Given the description of an element on the screen output the (x, y) to click on. 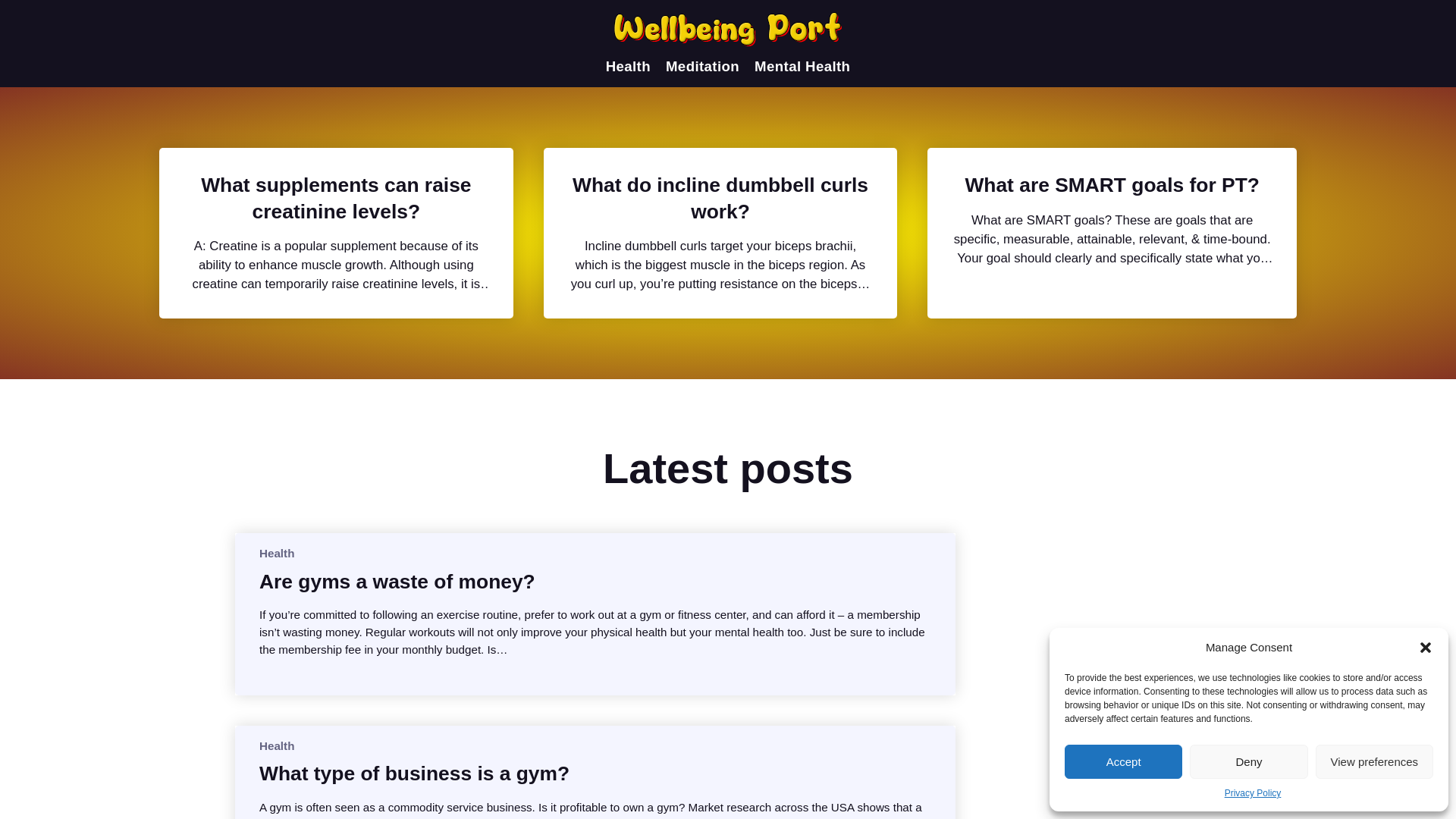
Health (276, 553)
What do incline dumbbell curls work? (720, 197)
Health (276, 745)
Deny (1248, 761)
What are SMART goals for PT? (1111, 184)
What supplements can raise creatinine levels? (336, 197)
Meditation (702, 66)
View preferences (1374, 761)
Privacy Policy (1252, 793)
Accept (1123, 761)
What type of business is a gym? (414, 773)
Are gyms a waste of money? (397, 581)
Health (627, 66)
Mental Health (802, 66)
